Given the description of an element on the screen output the (x, y) to click on. 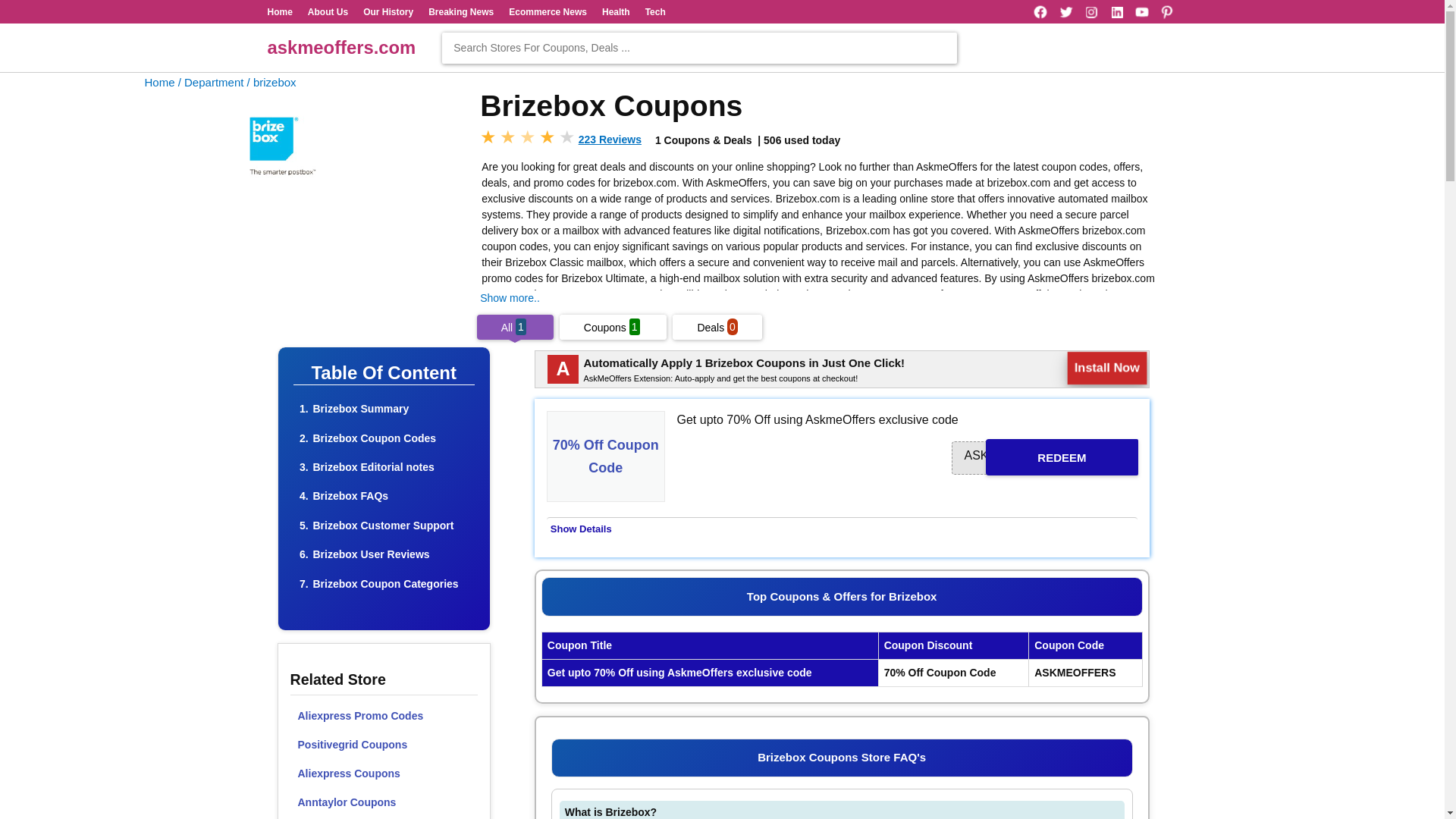
AskMeOffers - Best Deals and Coupons (340, 46)
Brizebox User Reviews (371, 553)
All 1 (515, 327)
Brizebox Summary (361, 408)
About Us (327, 11)
Health (616, 11)
Install Now (1107, 367)
Department Coupons (210, 82)
Askmeoffers Homepage (159, 82)
askmeoffers.com (340, 46)
YouTube (1142, 12)
Home (159, 82)
Breaking News (460, 11)
Brizebox FAQs (350, 495)
Health (616, 11)
